Given the description of an element on the screen output the (x, y) to click on. 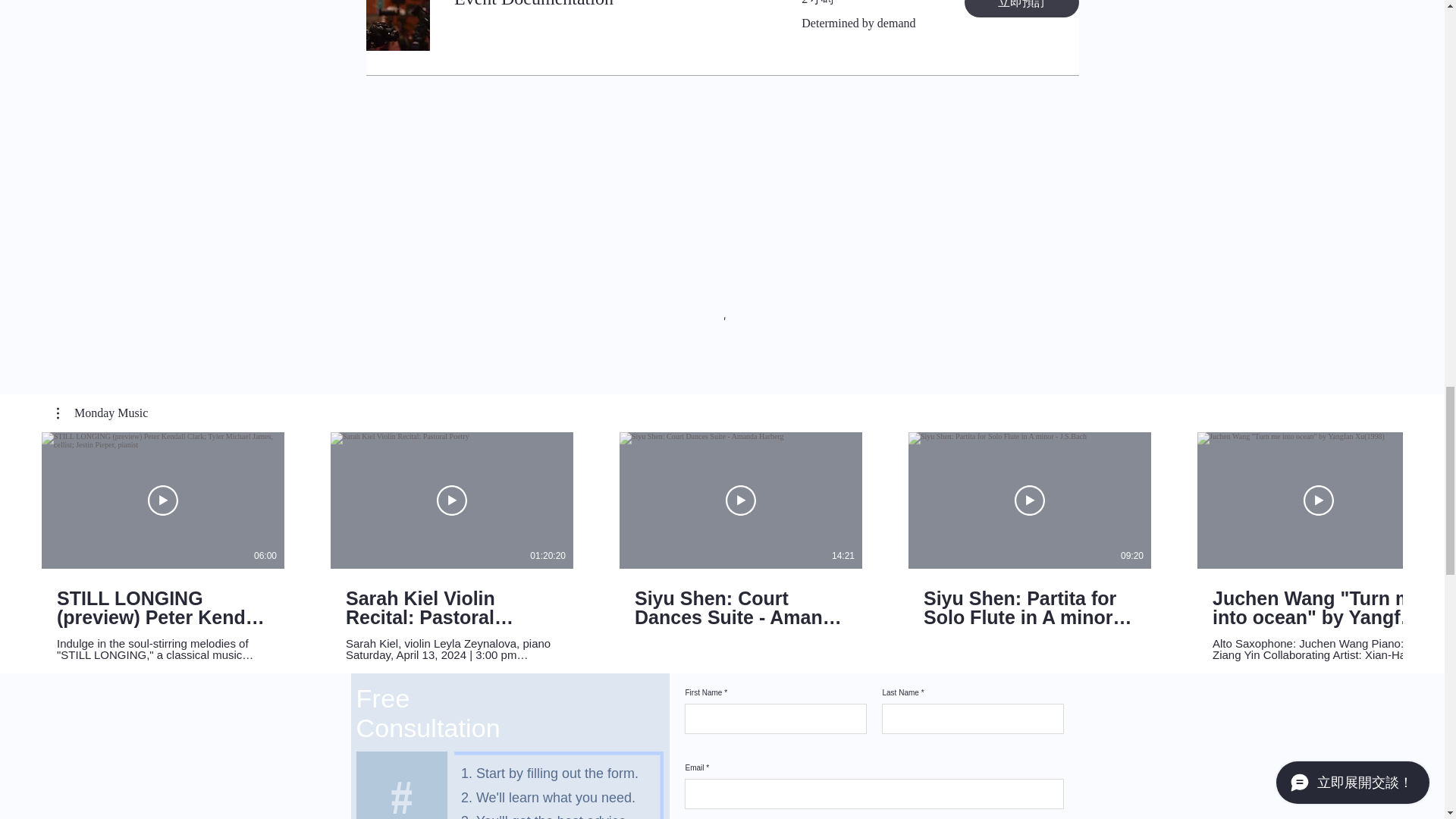
Siyu Shen: Partita for Solo Flute in A minor - J.S.Bach (1029, 598)
Siyu Shen: Court Dances Suite - Amanda Harberg (740, 607)
Event Documentation (608, 5)
Siyu Shen: Court Dances Suite - Amanda Harberg (740, 598)
Siyu Shen: Partita for Solo Flute in A minor - J.S.Bach (1029, 607)
Sarah Kiel Violin Recital: Pastoral Poetry (451, 607)
